Given the description of an element on the screen output the (x, y) to click on. 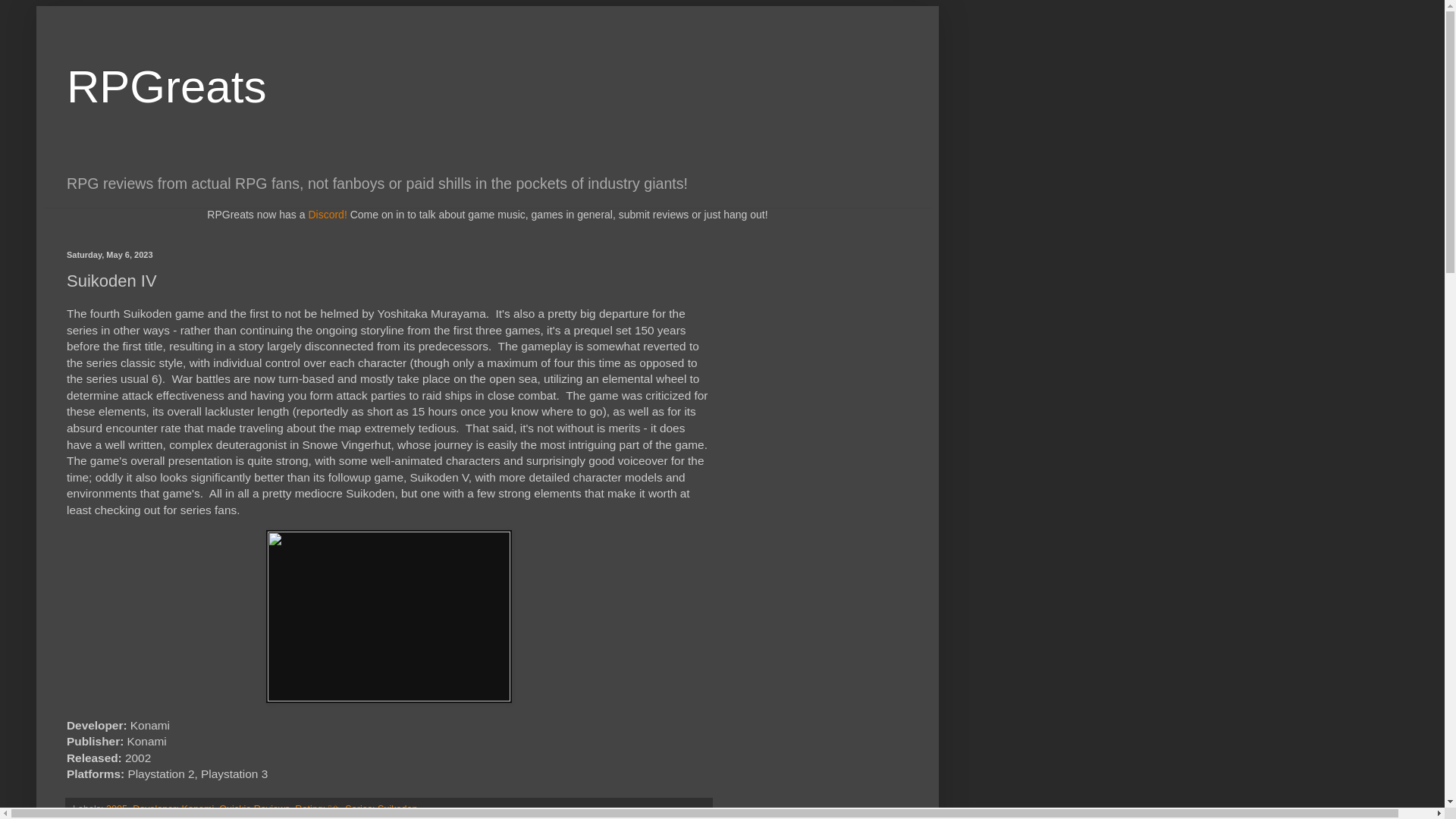
Discord! (326, 214)
Developer: Konami (173, 808)
Quickie Reviews (254, 808)
RPGreats (166, 86)
2005 (117, 808)
Series: Suikoden (380, 808)
